Given the description of an element on the screen output the (x, y) to click on. 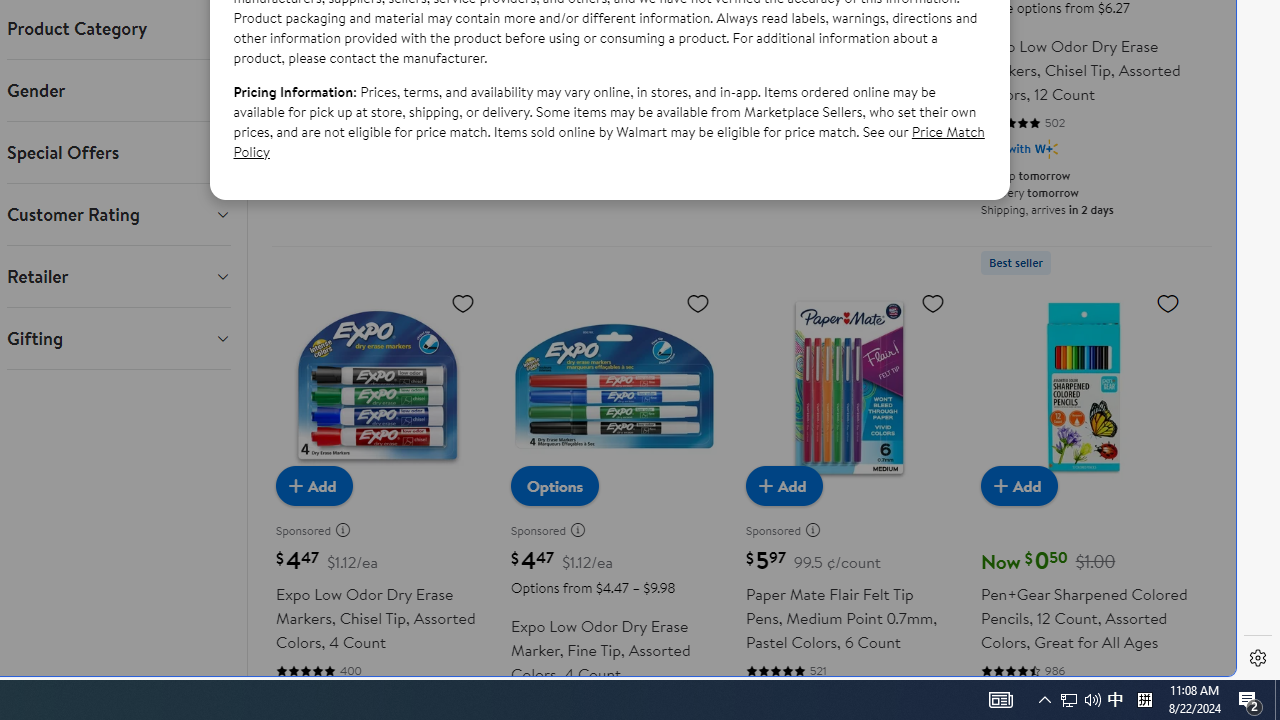
Price Match Policy (608, 141)
